Given the description of an element on the screen output the (x, y) to click on. 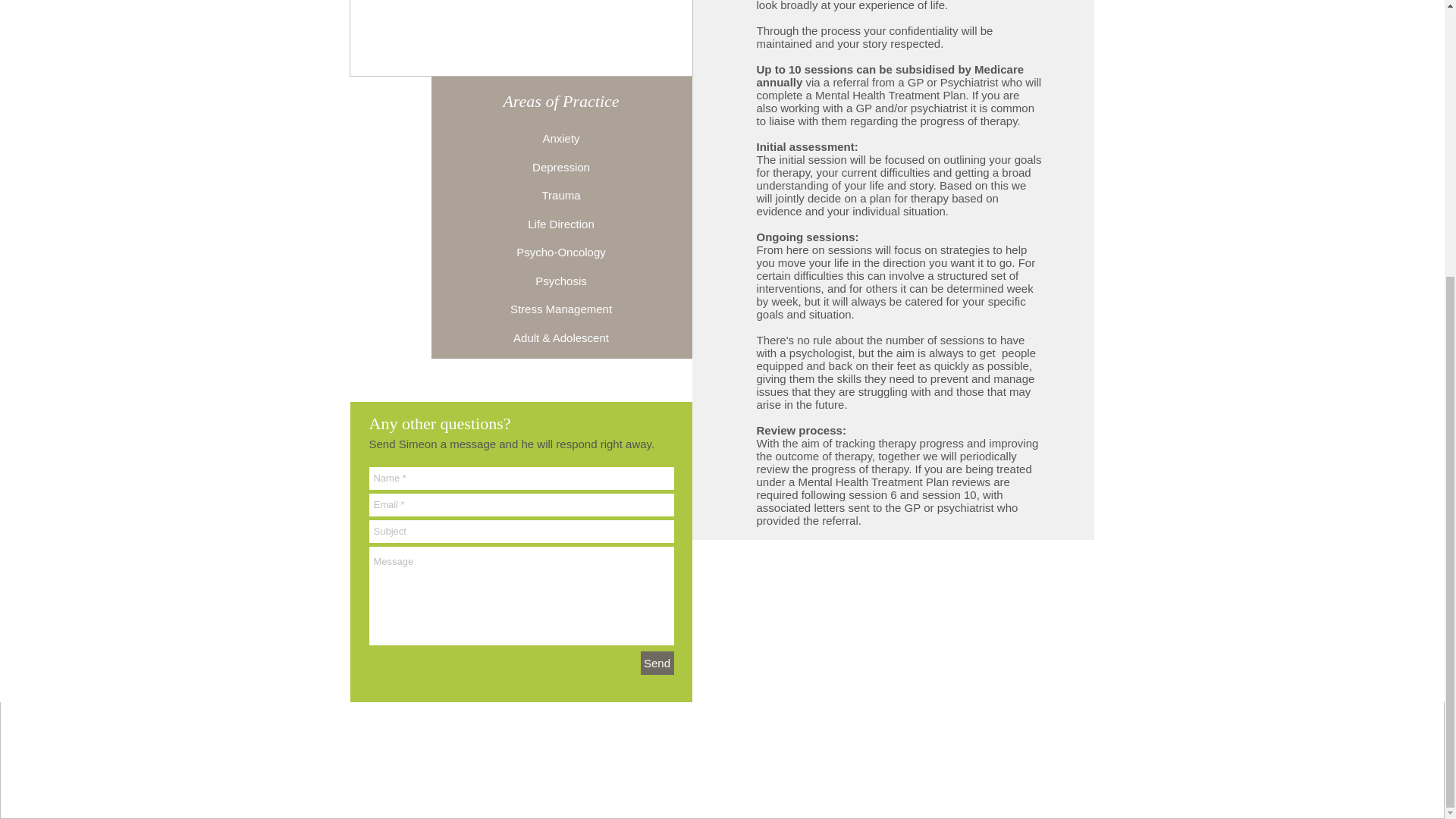
Coffee Table (521, 38)
Clinical Psychologist (723, 751)
Send (656, 662)
Simeon Jones (722, 734)
